Given the description of an element on the screen output the (x, y) to click on. 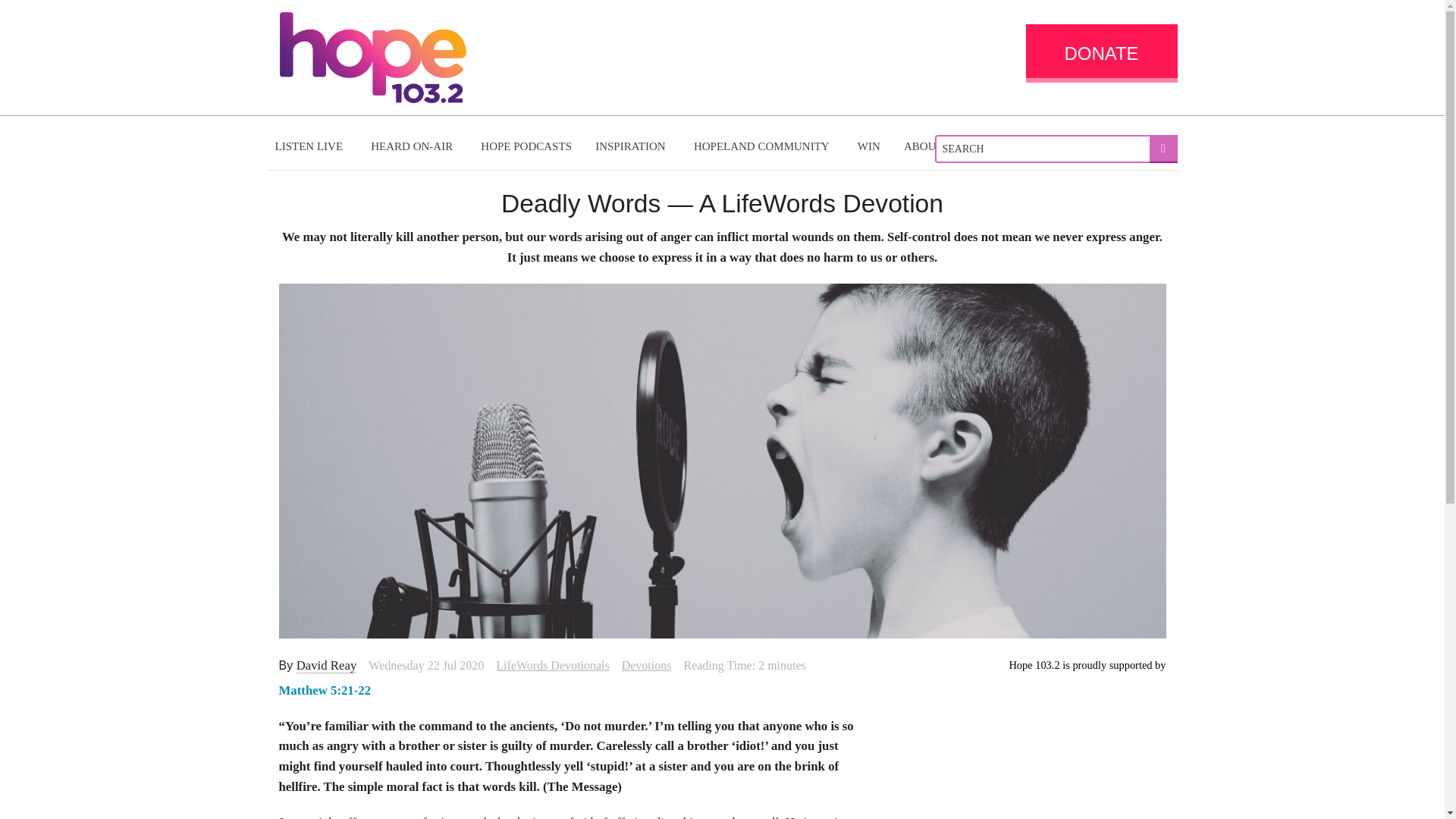
HOPE PODCASTS (526, 146)
INSPIRATION (633, 146)
HOPELAND COMMUNITY (763, 146)
HEARD ON-AIR (413, 146)
LISTEN LIVE (310, 146)
DONATE (1100, 53)
